Given the description of an element on the screen output the (x, y) to click on. 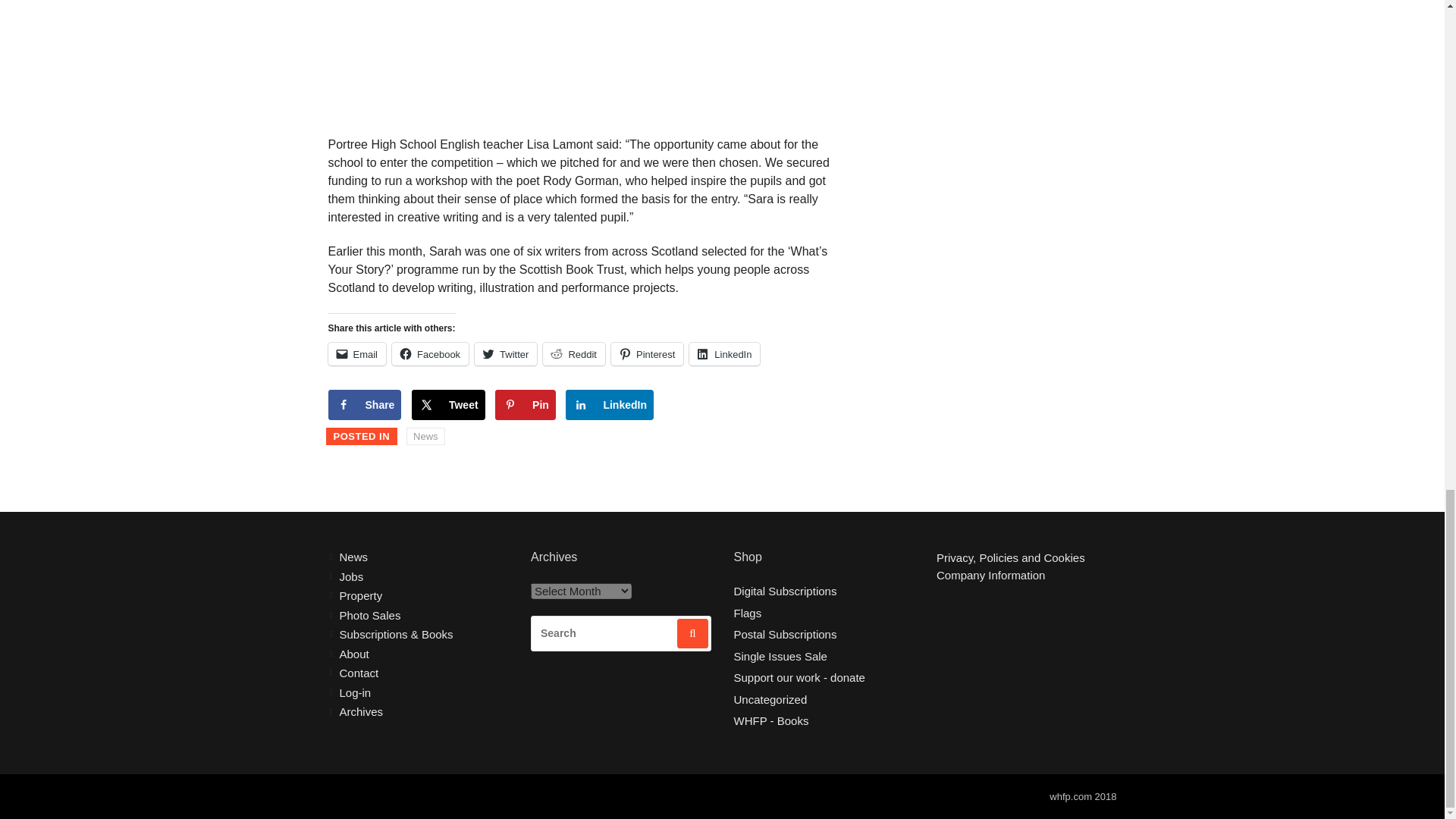
Save to Pinterest (525, 404)
Click to share on Pinterest (646, 354)
Share on LinkedIn (609, 404)
Share on Facebook (364, 404)
Click to share on LinkedIn (724, 354)
Click to share on Twitter (505, 354)
Click to share on Facebook (429, 354)
Share on X (448, 404)
Click to share on Reddit (574, 354)
Click to email a link to a friend (356, 354)
